Given the description of an element on the screen output the (x, y) to click on. 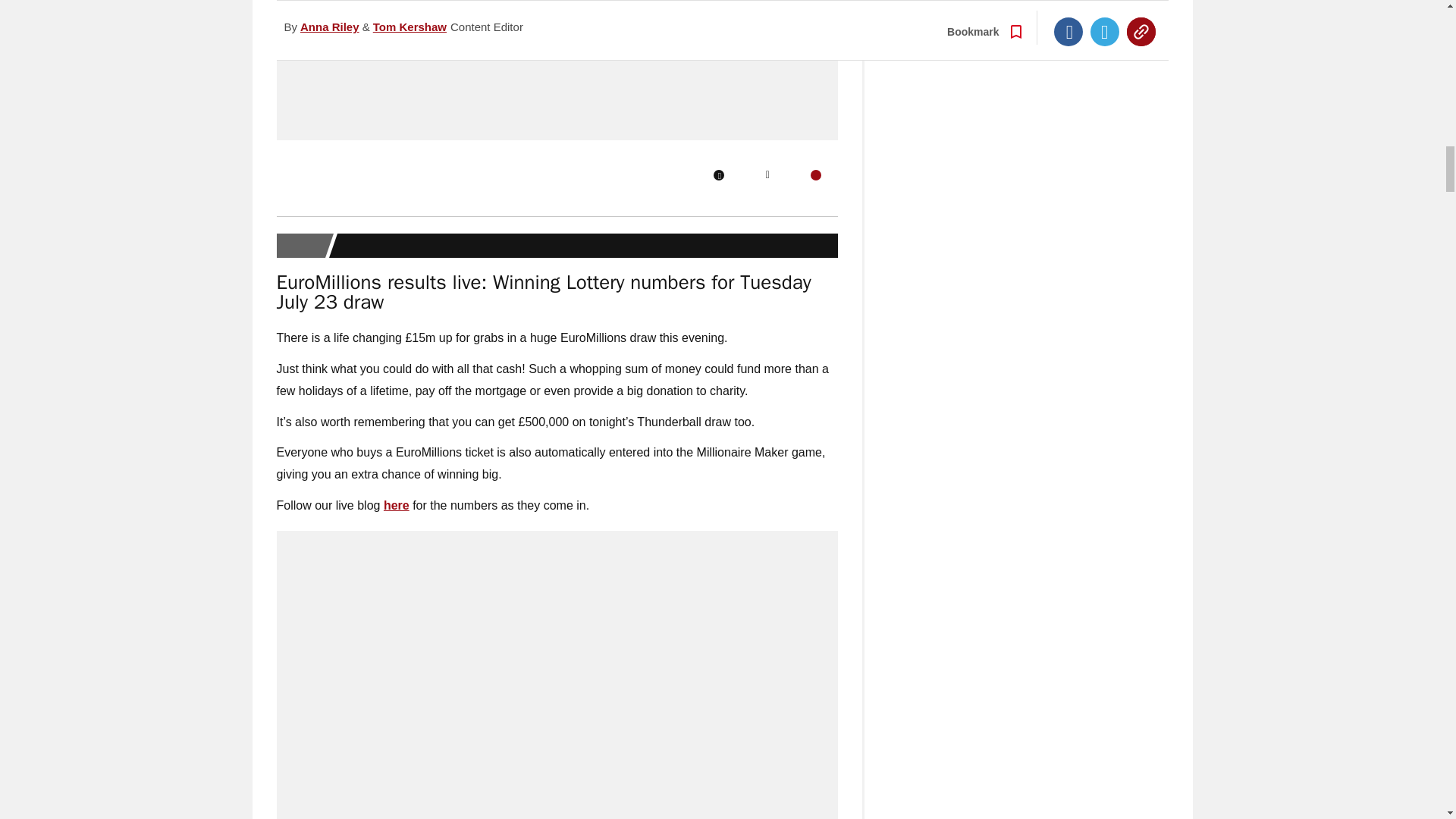
Facebook (718, 174)
Twitter (767, 174)
